Given the description of an element on the screen output the (x, y) to click on. 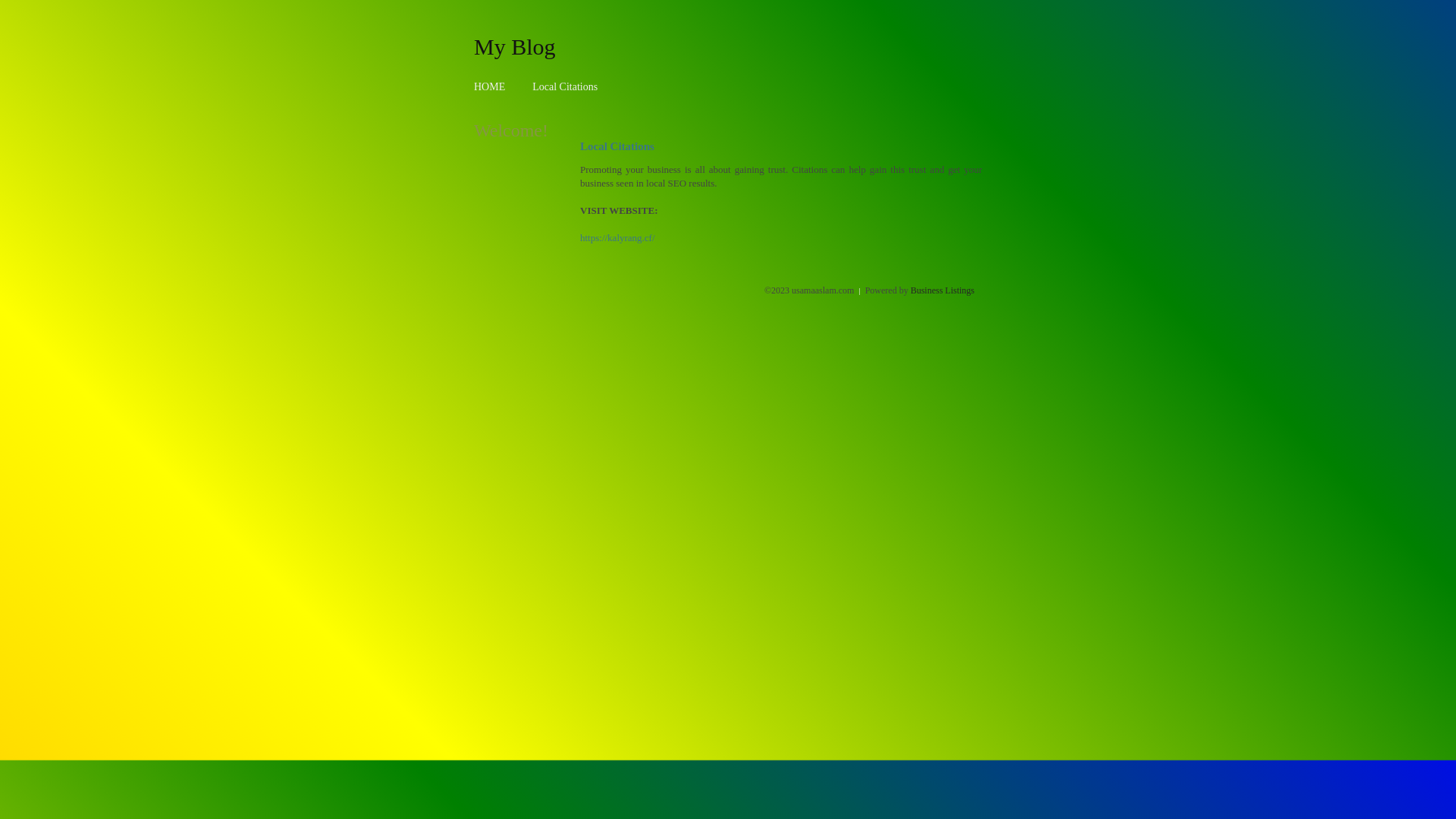
Local Citations Element type: text (564, 86)
Business Listings Element type: text (942, 290)
HOME Element type: text (489, 86)
My Blog Element type: text (514, 46)
https://kalyrang.cf/ Element type: text (617, 237)
